Given the description of an element on the screen output the (x, y) to click on. 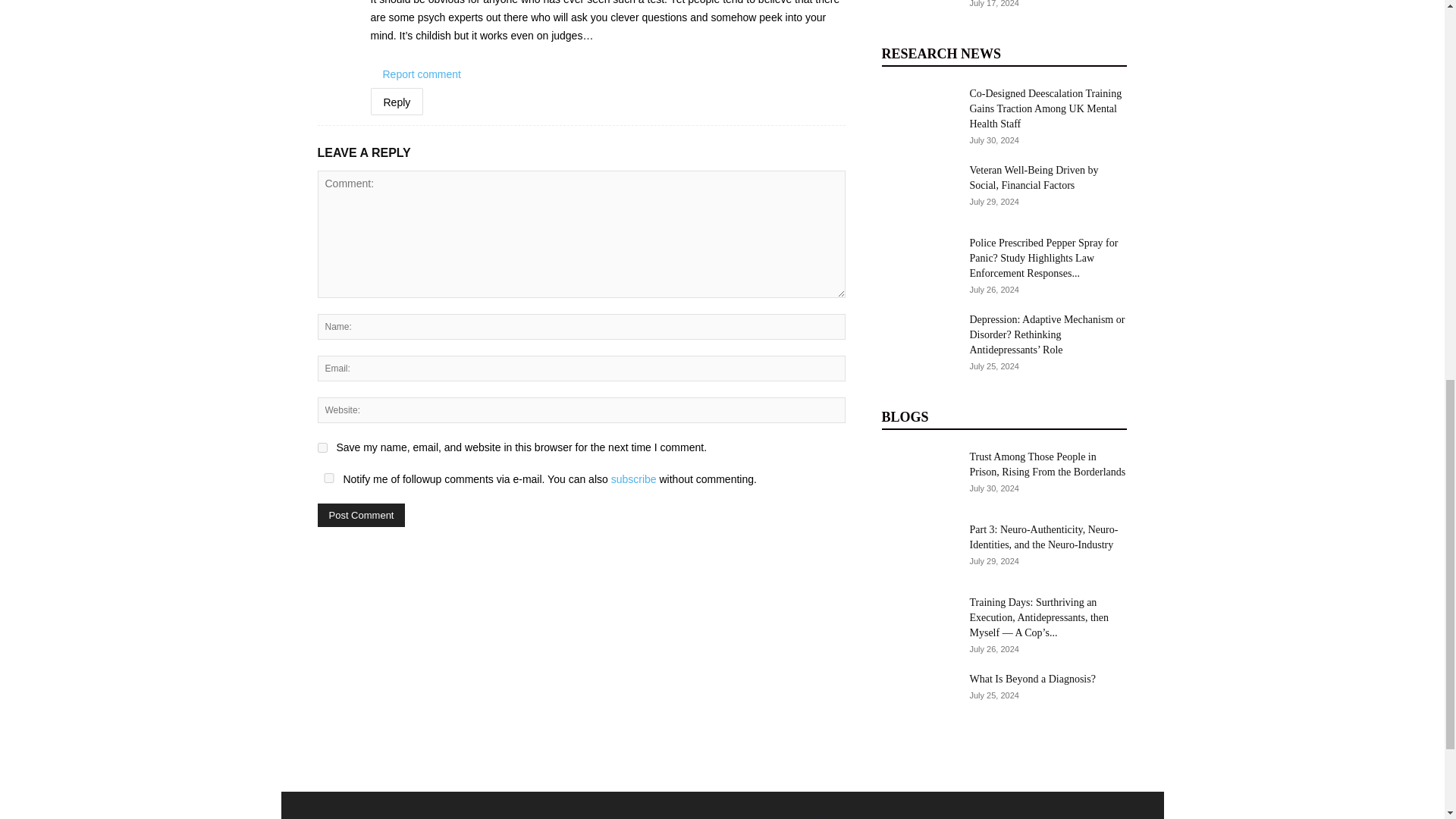
Post Comment (360, 515)
yes (328, 478)
yes (321, 447)
